Given the description of an element on the screen output the (x, y) to click on. 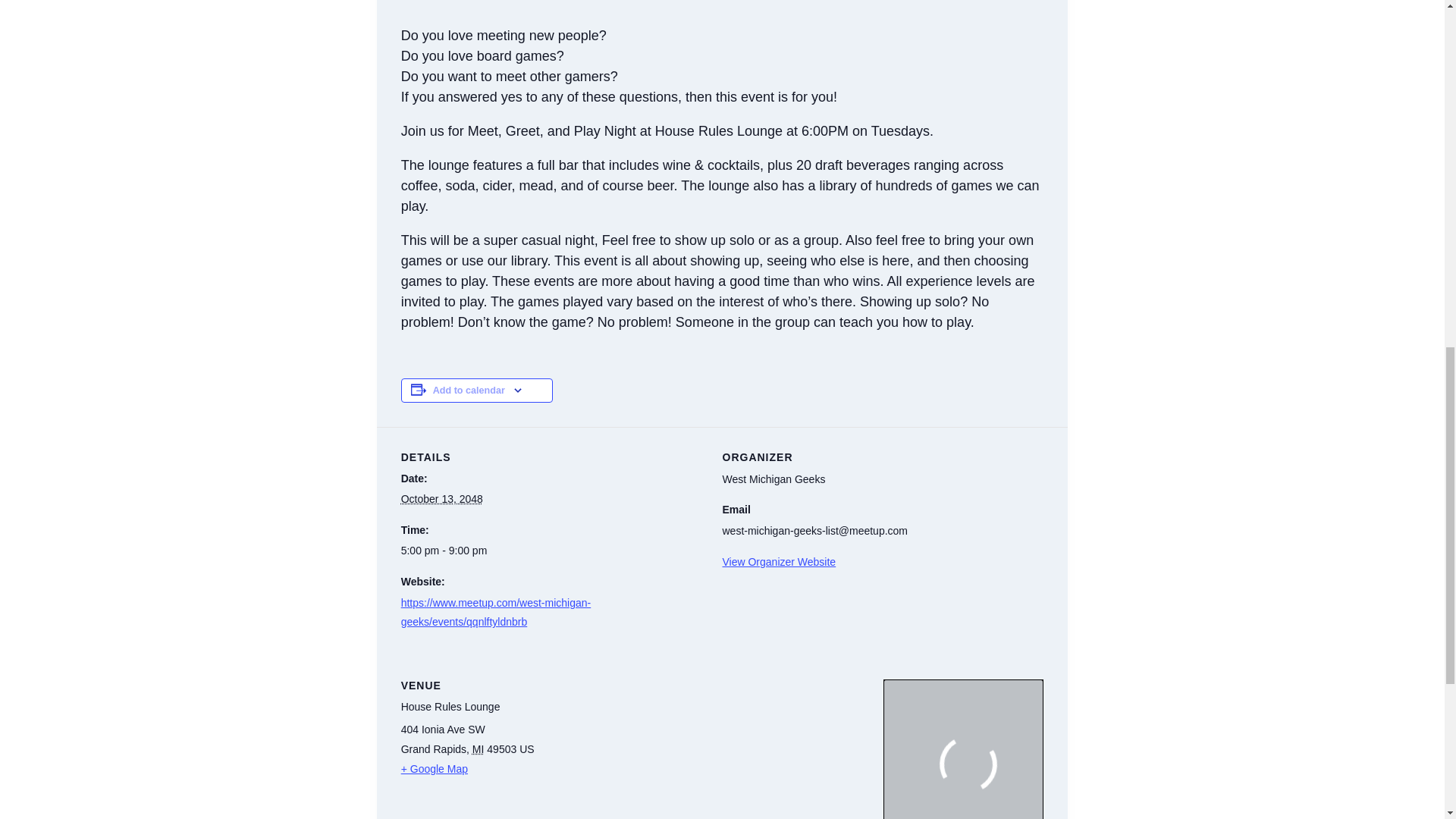
2048-10-13 (552, 551)
Click to view a Google Map (633, 768)
Michigan (477, 748)
Add to calendar (468, 389)
View Organizer Website (778, 562)
2048-10-13 (442, 499)
